Given the description of an element on the screen output the (x, y) to click on. 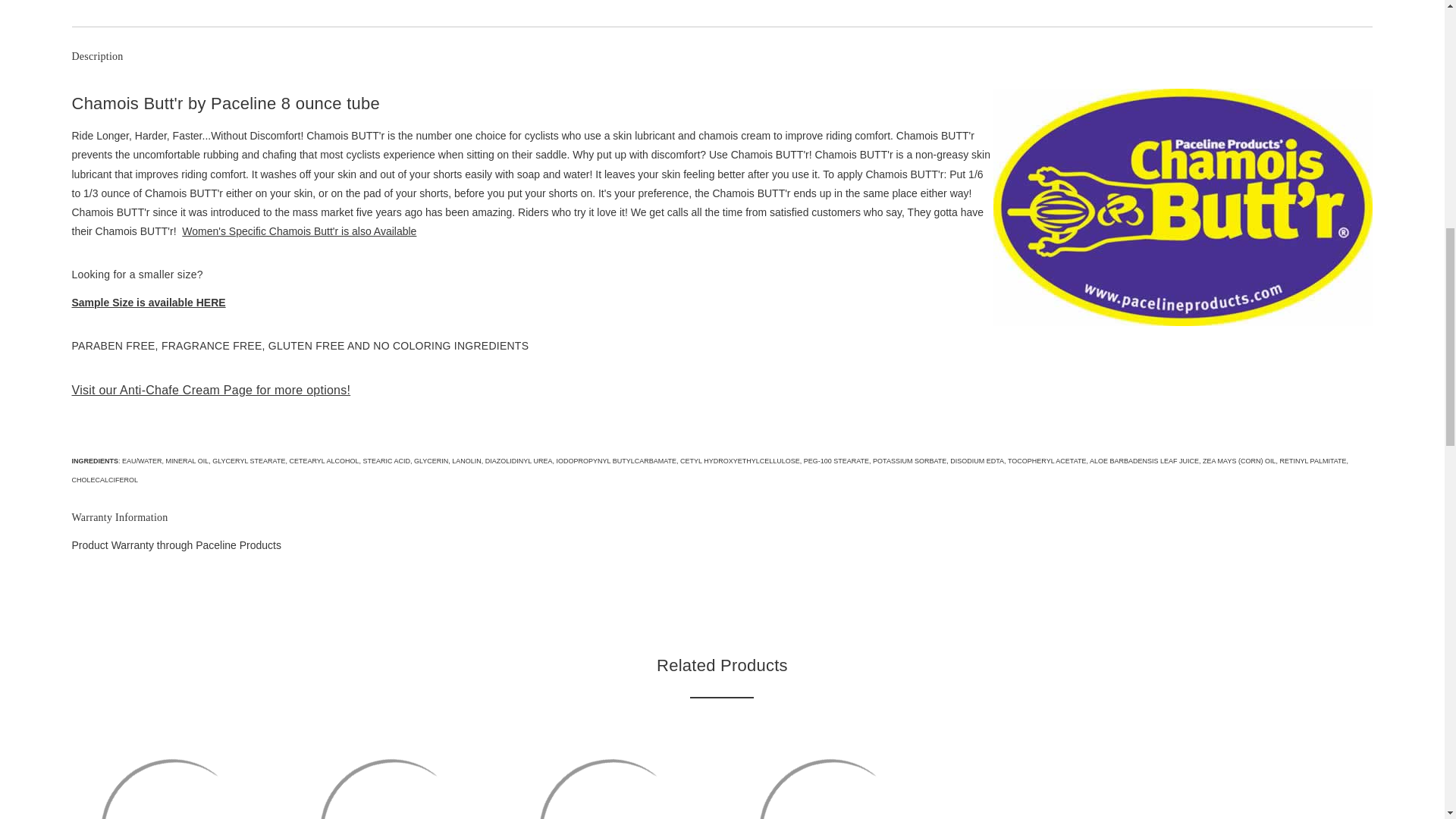
buttr-logo.jpg (1182, 206)
Butt'r Chamois Anti Chafe Cream Sample (173, 780)
Chamois  Butt'r Women's HER Anti Chafe Cream (831, 780)
